Given the description of an element on the screen output the (x, y) to click on. 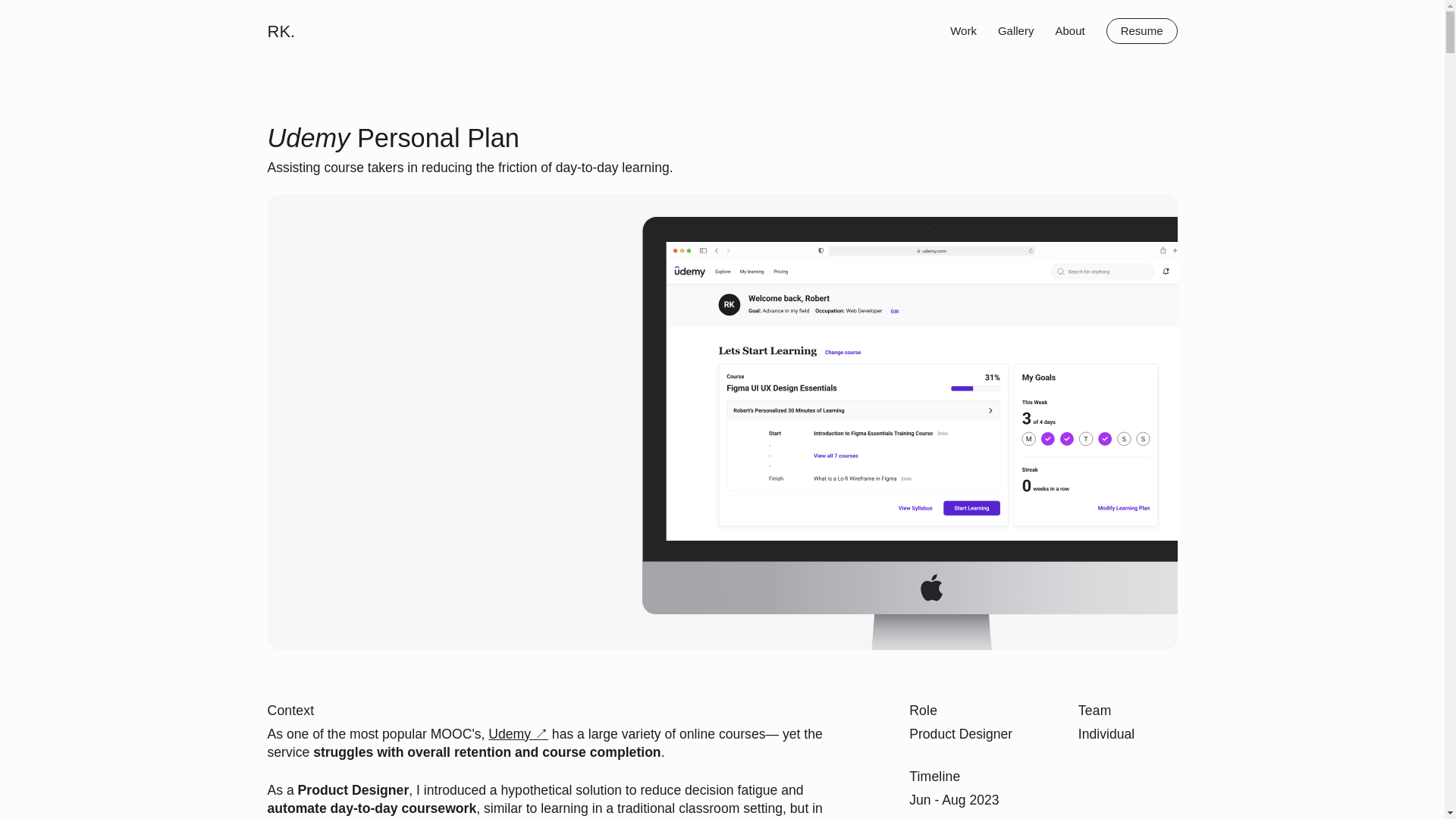
About (1069, 31)
Gallery (1015, 31)
Resume (1141, 31)
Work (963, 31)
RK. (280, 31)
